Given the description of an element on the screen output the (x, y) to click on. 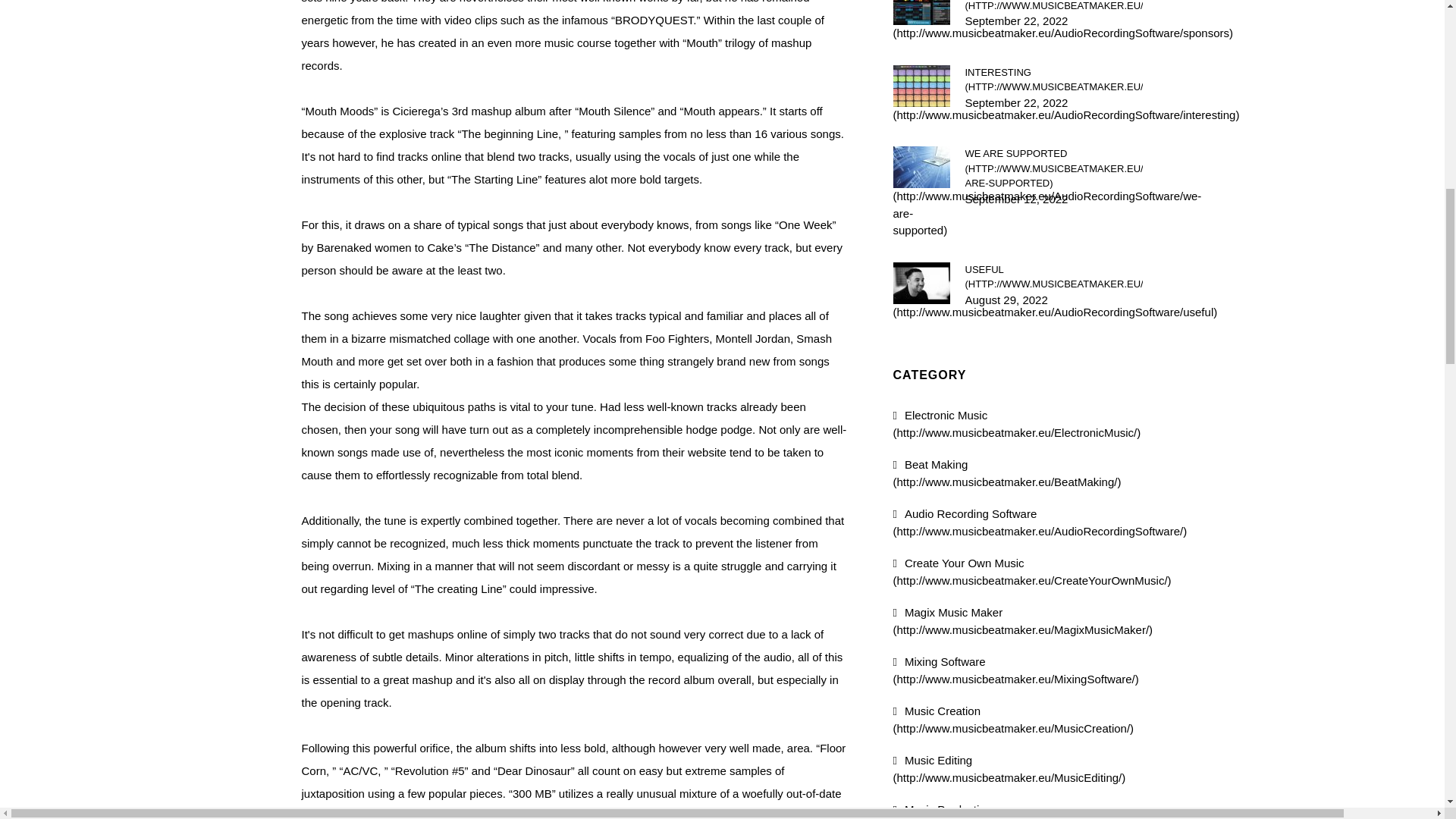
View all posts filed under Electronic Music (1017, 423)
View all posts filed under Mixing Software (1015, 670)
View all posts filed under Music Editing (1009, 768)
View all posts filed under Audio Recording Software (1040, 521)
View all posts filed under Music Creation (1013, 719)
View all posts filed under Beat Making (1007, 472)
View all posts filed under Magix Music Maker (1023, 621)
View all posts filed under Music Production (1019, 811)
View all posts filed under Create Your Own Music (1032, 571)
